Given the description of an element on the screen output the (x, y) to click on. 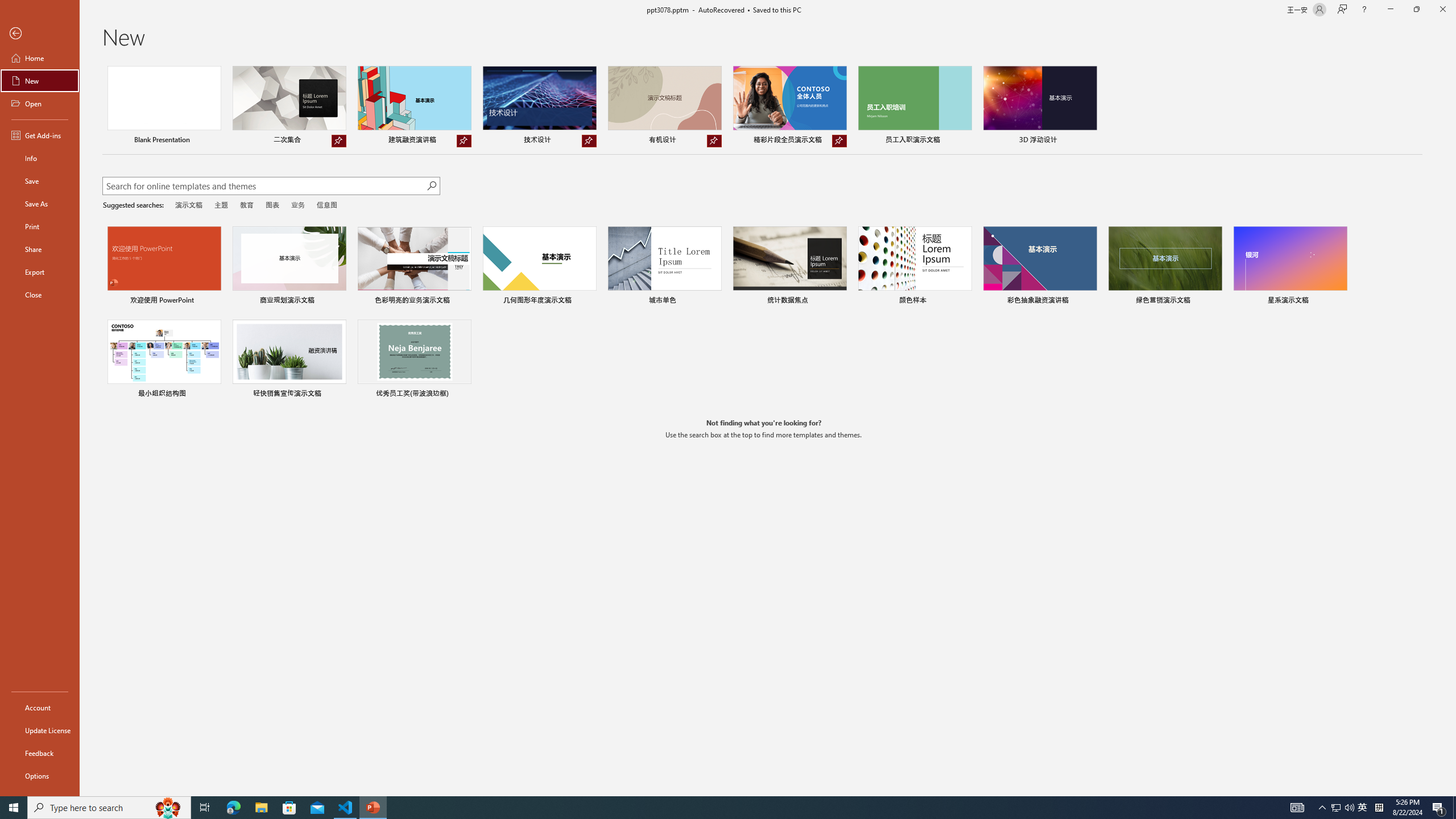
Back (40, 33)
Print (40, 225)
Update License (40, 730)
Get Add-ins (40, 134)
Feedback (40, 753)
